Given the description of an element on the screen output the (x, y) to click on. 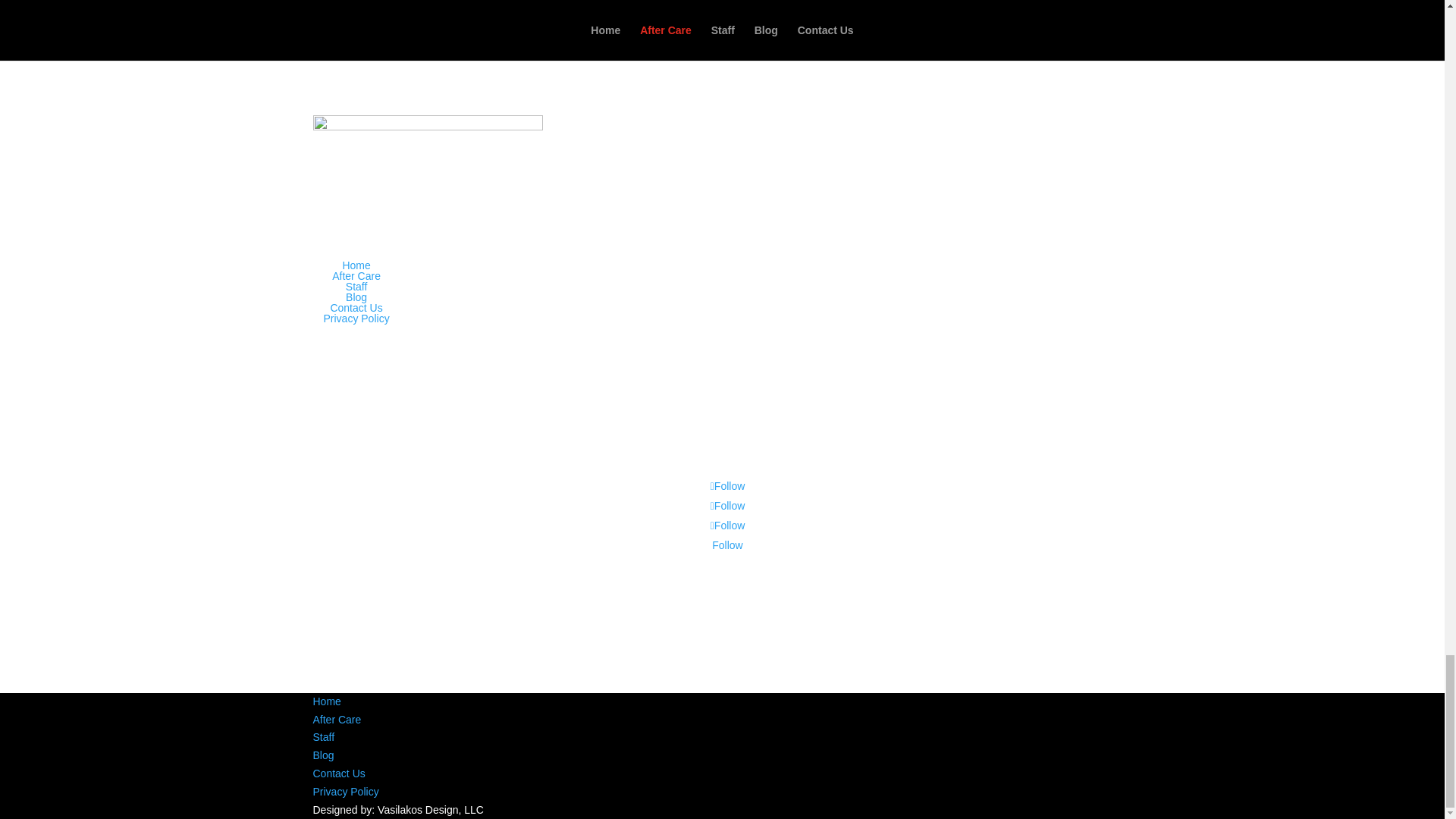
Follow (726, 544)
Blog (323, 755)
Follow (727, 505)
temp3 (427, 146)
Staff (323, 736)
Blog (356, 297)
Contact Us (355, 307)
Follow on X (727, 505)
Home (355, 265)
Follow (727, 525)
After Care (337, 719)
Home (326, 701)
Contact Us (339, 773)
Follow (727, 485)
Follow on Instagram (727, 525)
